Given the description of an element on the screen output the (x, y) to click on. 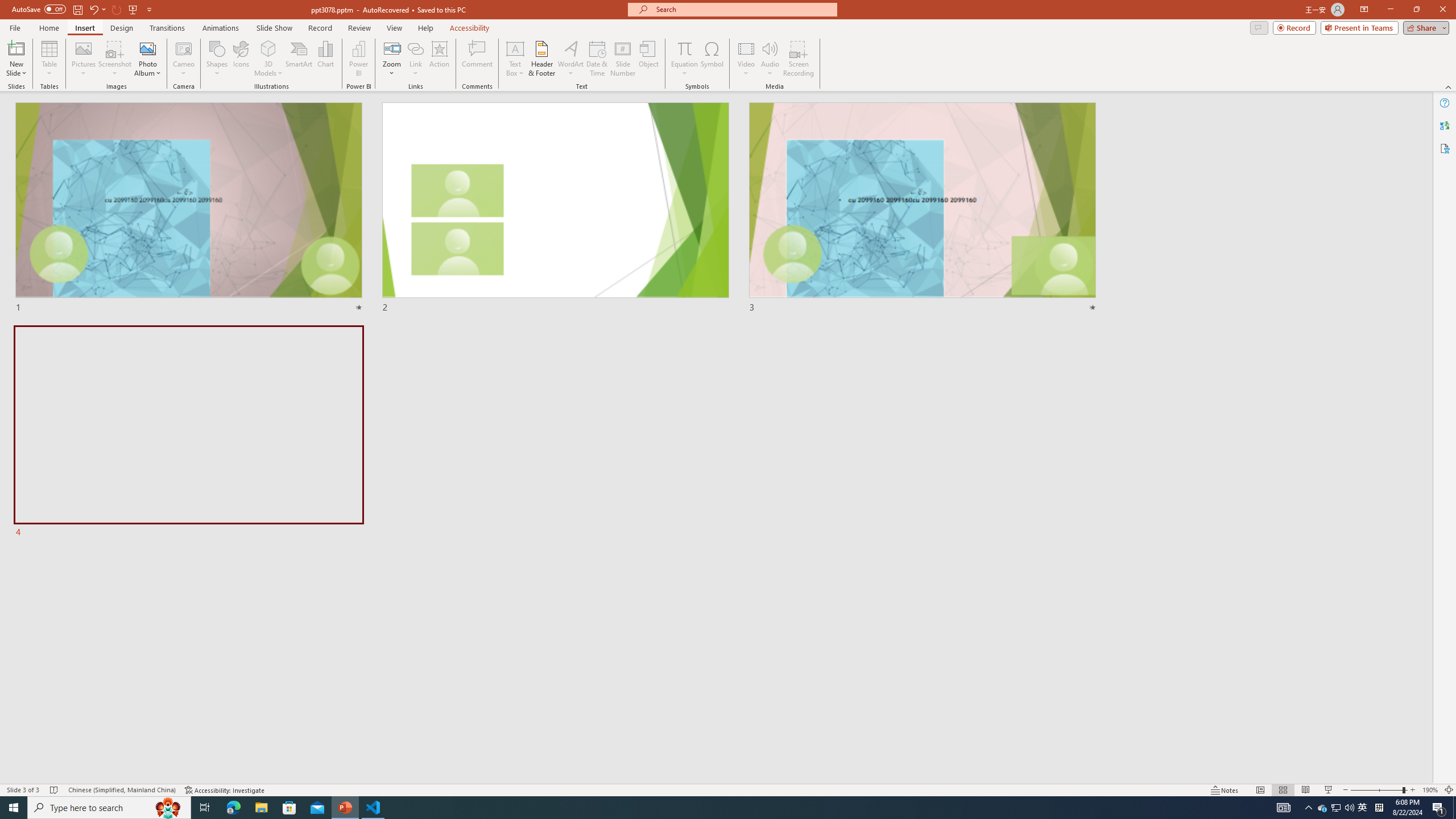
Restore Down (1416, 9)
Photo Album... (147, 58)
Redo (117, 9)
Draw Horizontal Text Box (515, 48)
WordArt (570, 58)
Screen Recording... (798, 58)
